Given the description of an element on the screen output the (x, y) to click on. 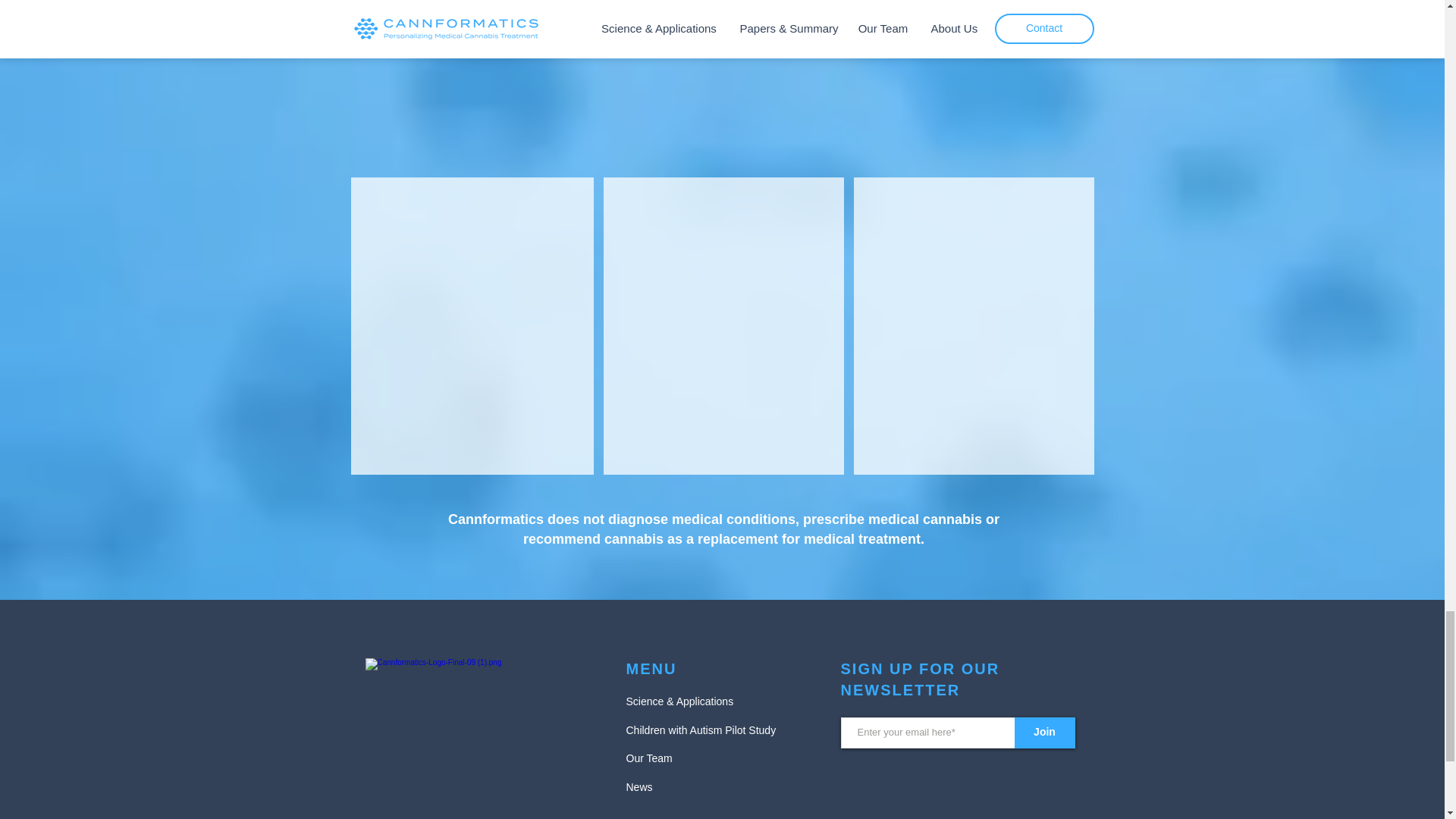
News (639, 787)
Join (1044, 732)
Children with Autism Pilot Study (701, 729)
Our Team (649, 758)
